Given the description of an element on the screen output the (x, y) to click on. 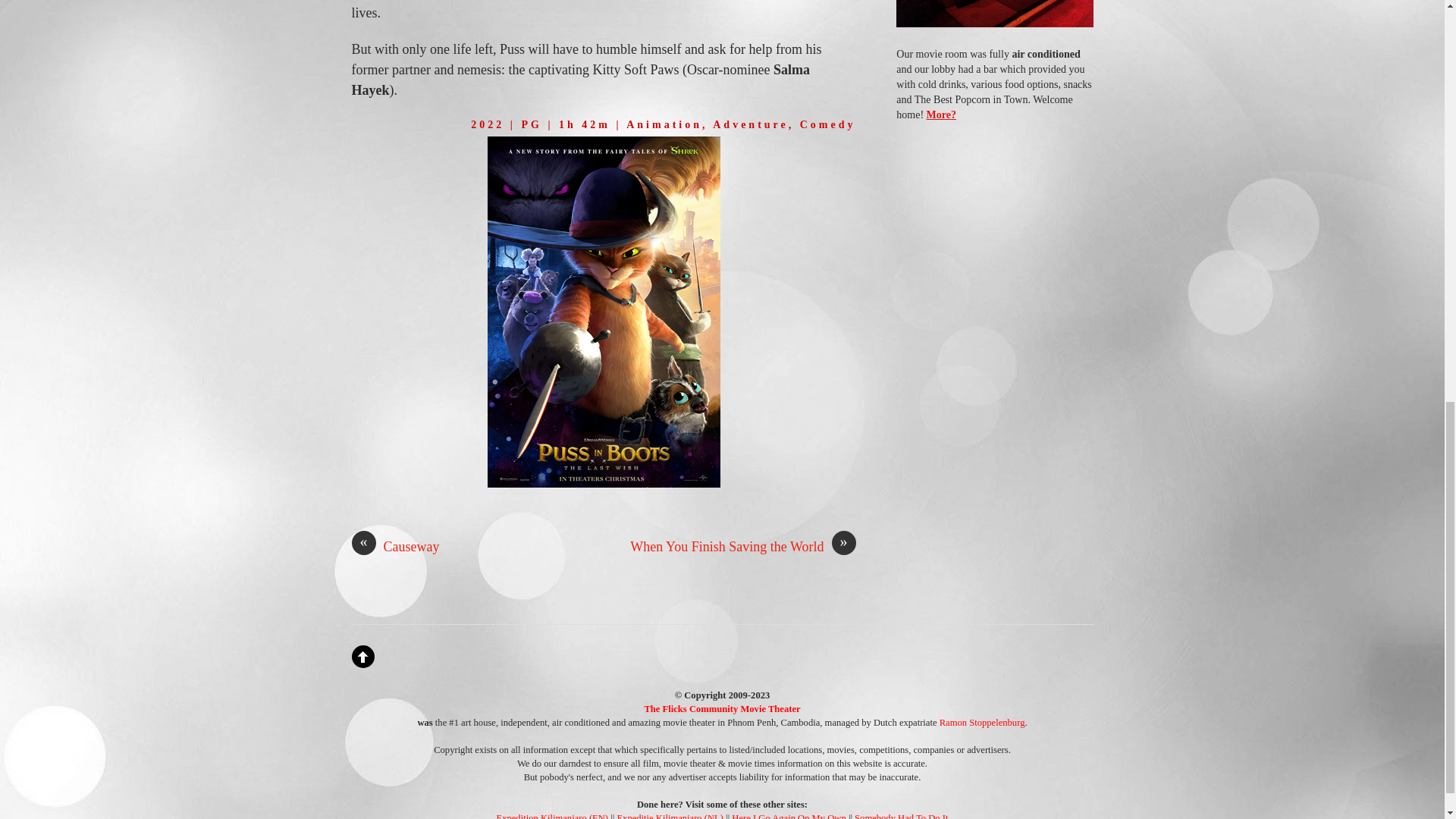
Ramon Stoppelenburg (982, 722)
Somebody Had To Do It (900, 816)
The Flicks Community Movie Theater (721, 708)
More? (941, 114)
Here I Go Again On My Own (788, 816)
